Given the description of an element on the screen output the (x, y) to click on. 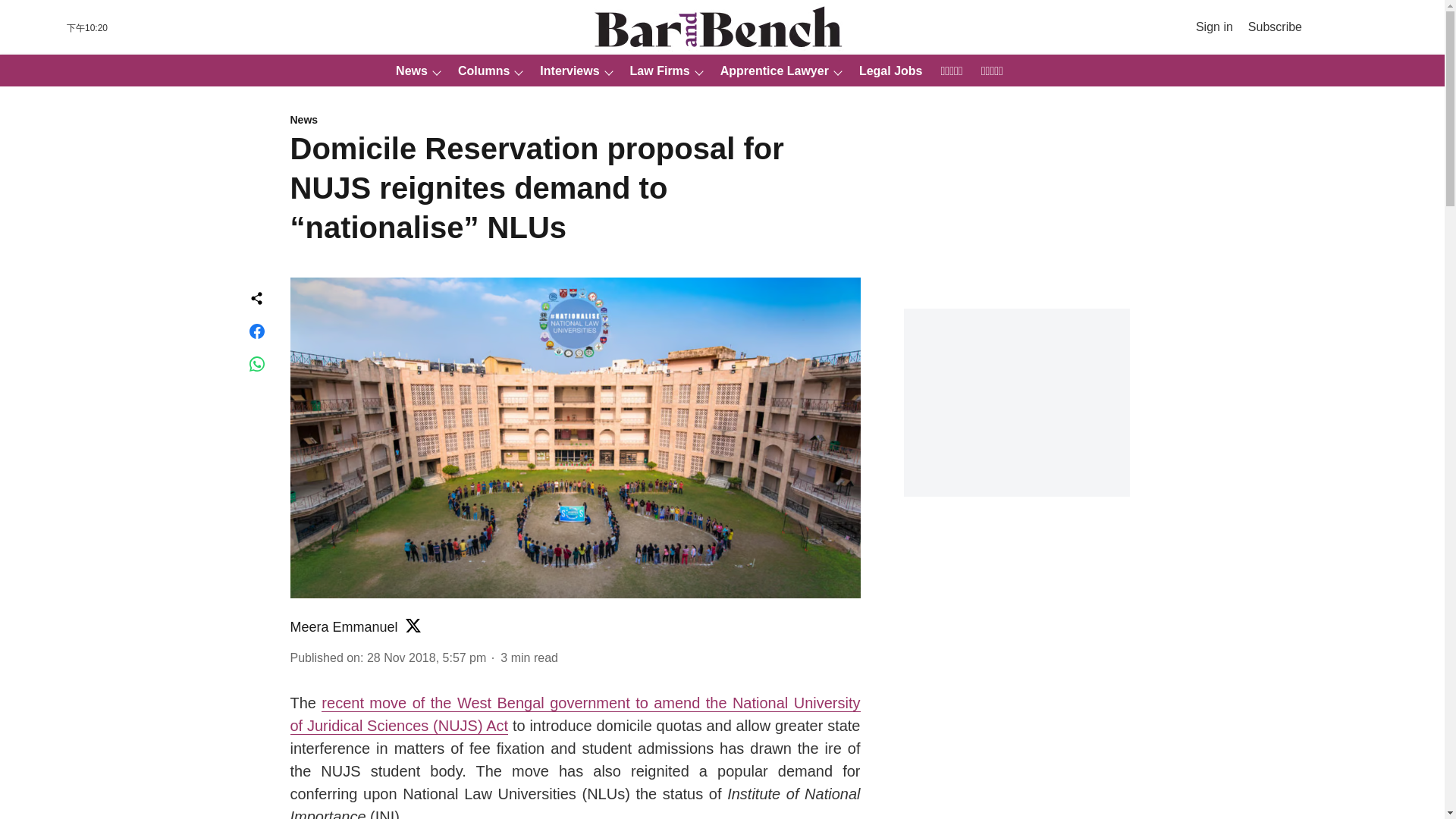
Columns (478, 71)
News (407, 71)
Law Firms (655, 71)
Interviews (564, 71)
2018-11-28 09:57 (426, 657)
Apprentice Lawyer (769, 71)
News (574, 120)
Legal Jobs (886, 71)
Meera Emmanuel (343, 626)
